Given the description of an element on the screen output the (x, y) to click on. 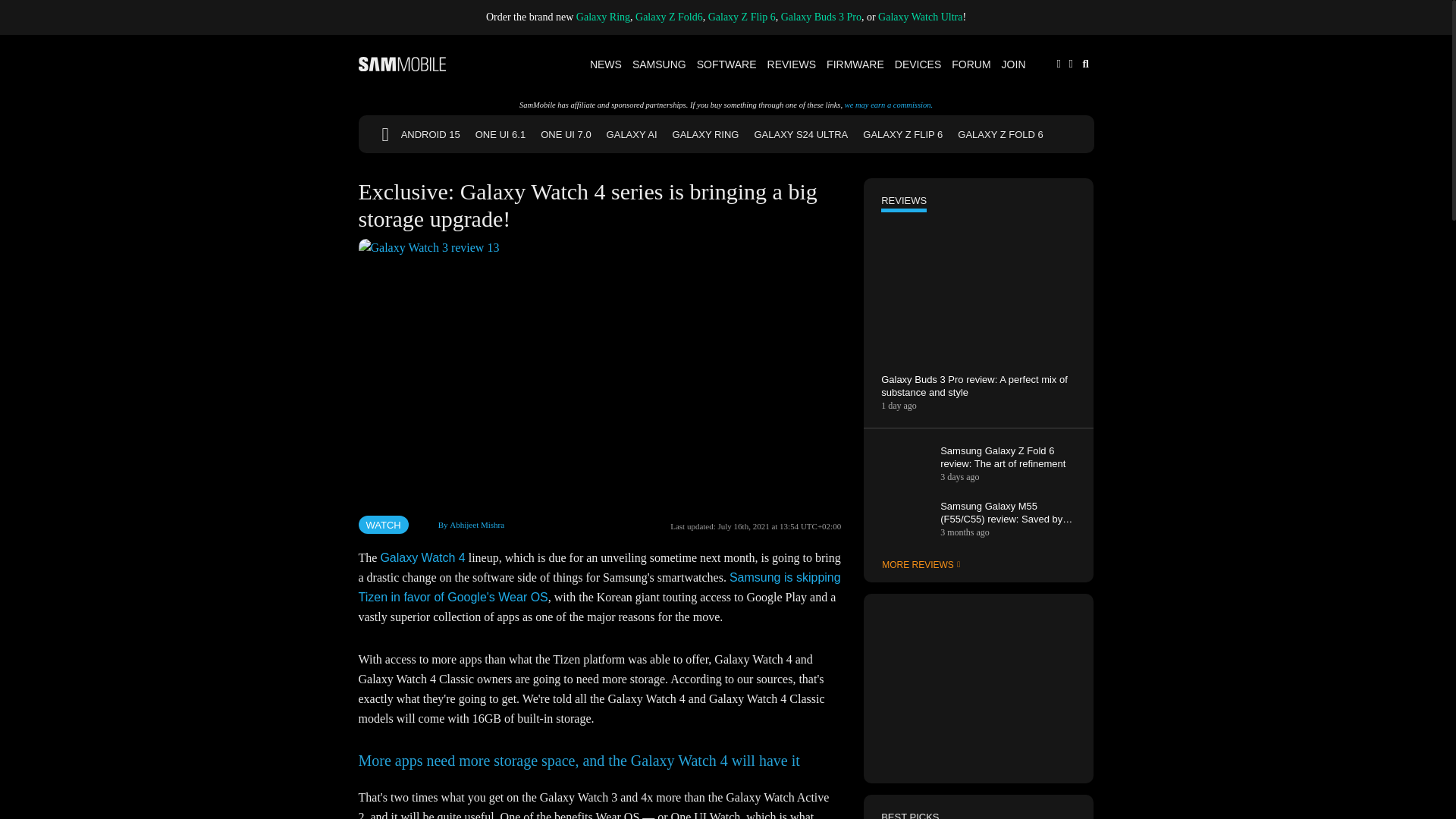
Galaxy Ring (603, 16)
Samsung (659, 64)
SamMobile logo (401, 63)
Galaxy Buds 3 Pro (820, 16)
Galaxy Watch Ultra (919, 16)
SAMSUNG (659, 64)
Galaxy Z Fold6 (668, 16)
Galaxy Z Flip 6 (741, 16)
